Given the description of an element on the screen output the (x, y) to click on. 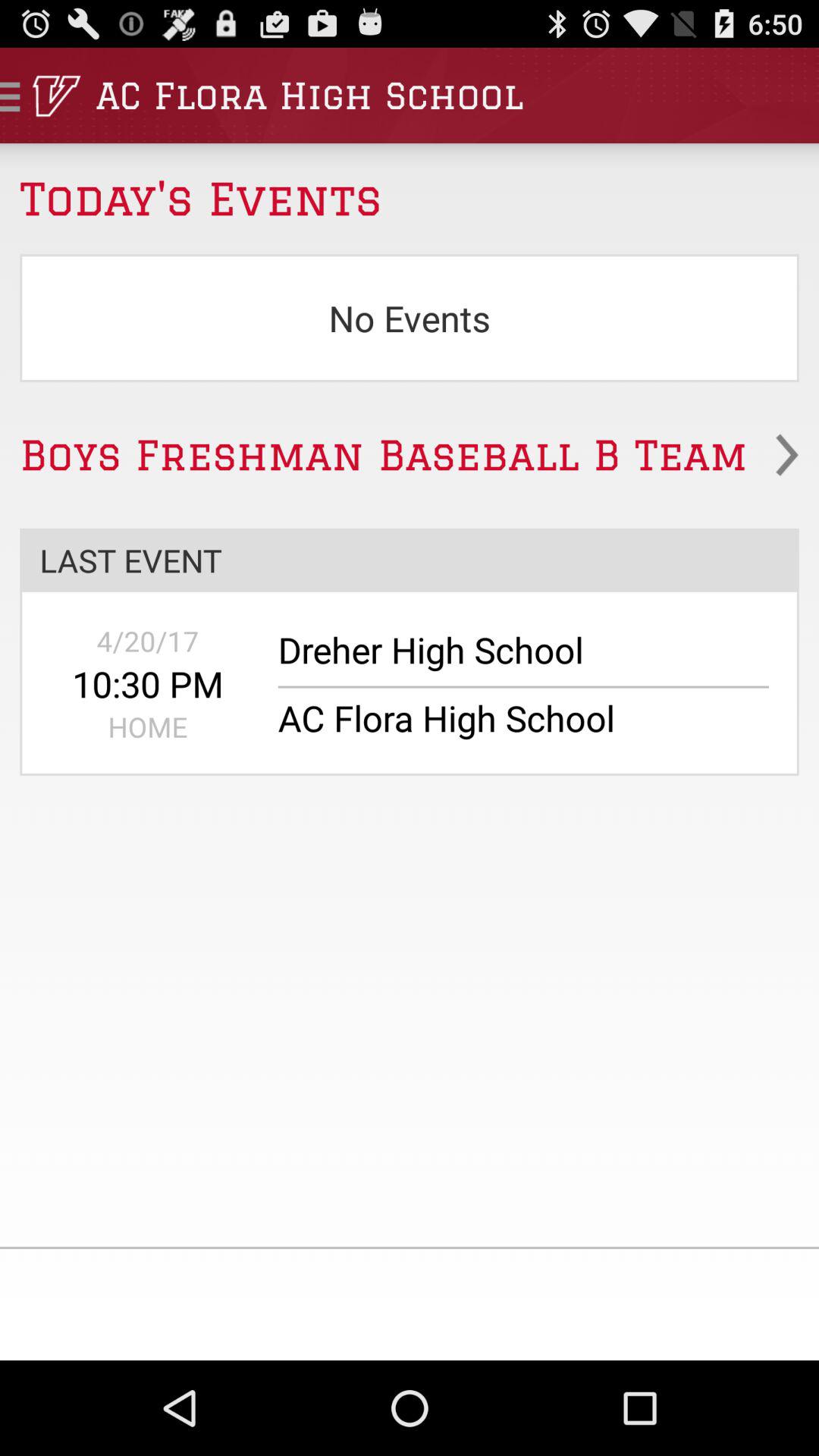
open app to the left of the dreher high school (147, 640)
